Given the description of an element on the screen output the (x, y) to click on. 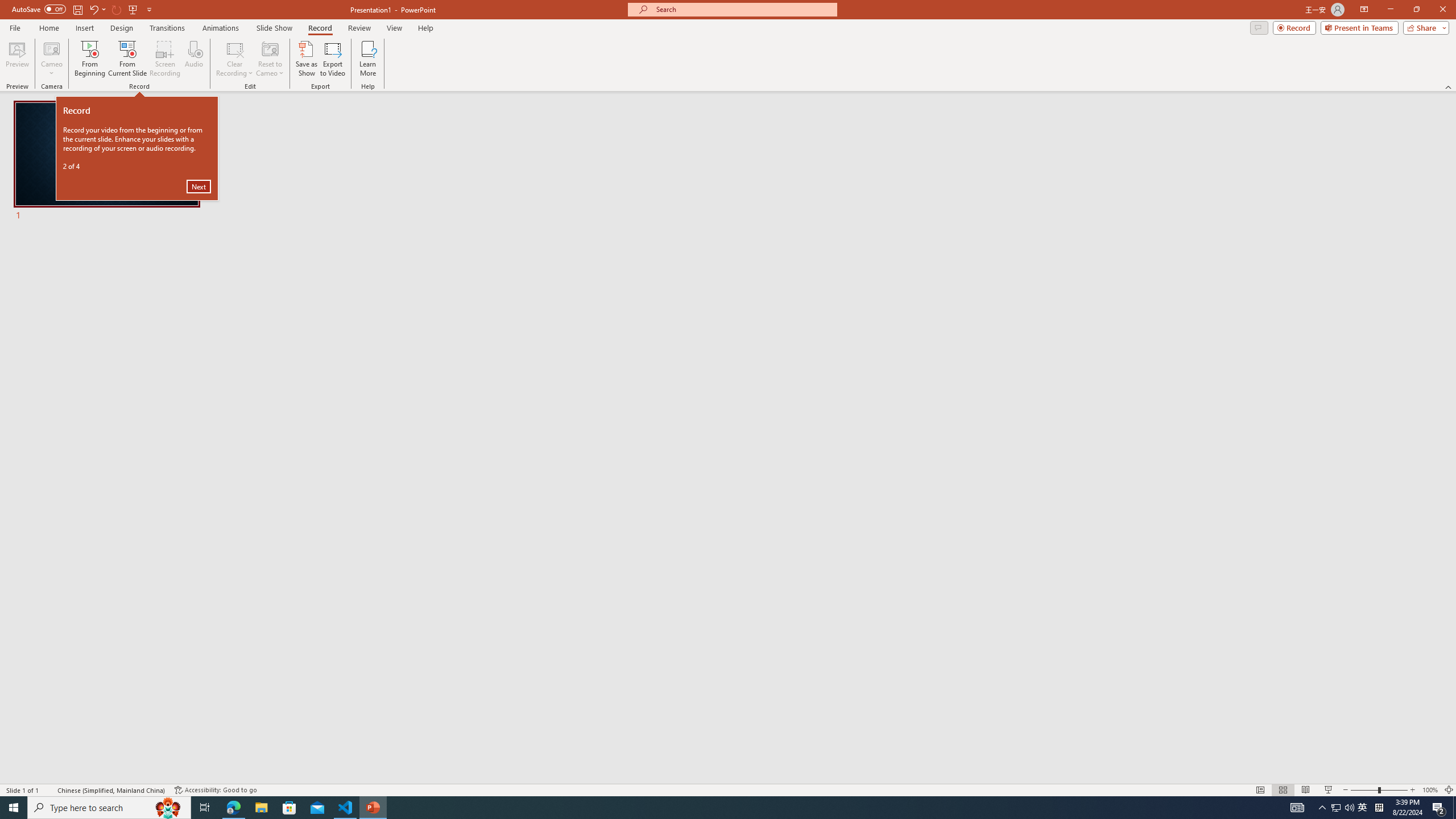
Customize Quick Access Toolbar (149, 9)
Visual Studio Code - 1 running window (345, 807)
Task View (204, 807)
Microsoft search (742, 9)
Help (425, 28)
Save as Show (306, 58)
AutomationID: 4105 (1297, 807)
Start (13, 807)
From Beginning... (89, 58)
Review (359, 28)
Normal (1260, 790)
Slide Sorter (1282, 790)
Export to Video (332, 58)
